Given the description of an element on the screen output the (x, y) to click on. 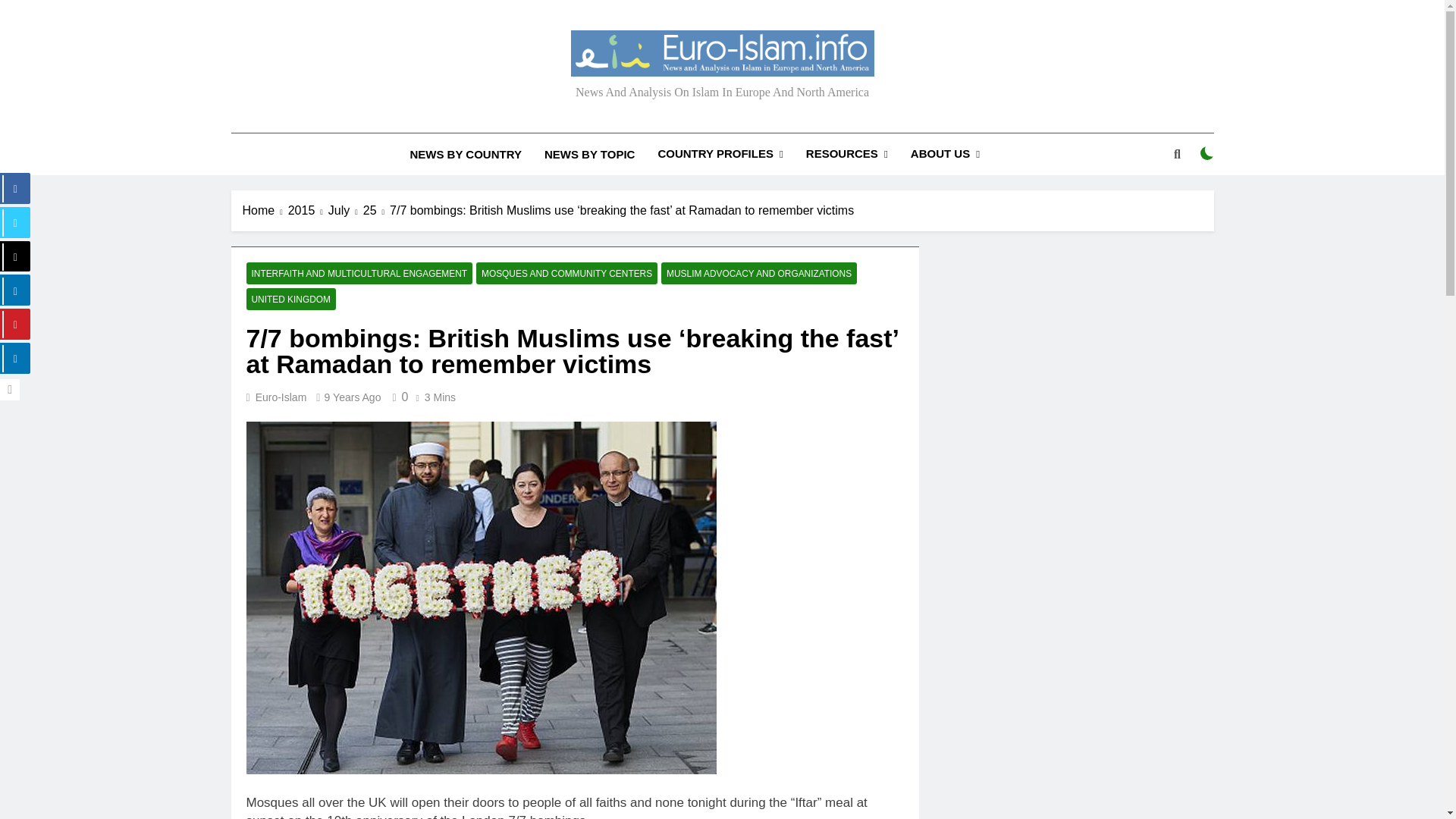
ABOUT US (945, 154)
NEWS BY TOPIC (589, 154)
on (1206, 152)
RESOURCES (846, 154)
COUNTRY PROFILES (719, 154)
NEWS BY COUNTRY (464, 154)
